Given the description of an element on the screen output the (x, y) to click on. 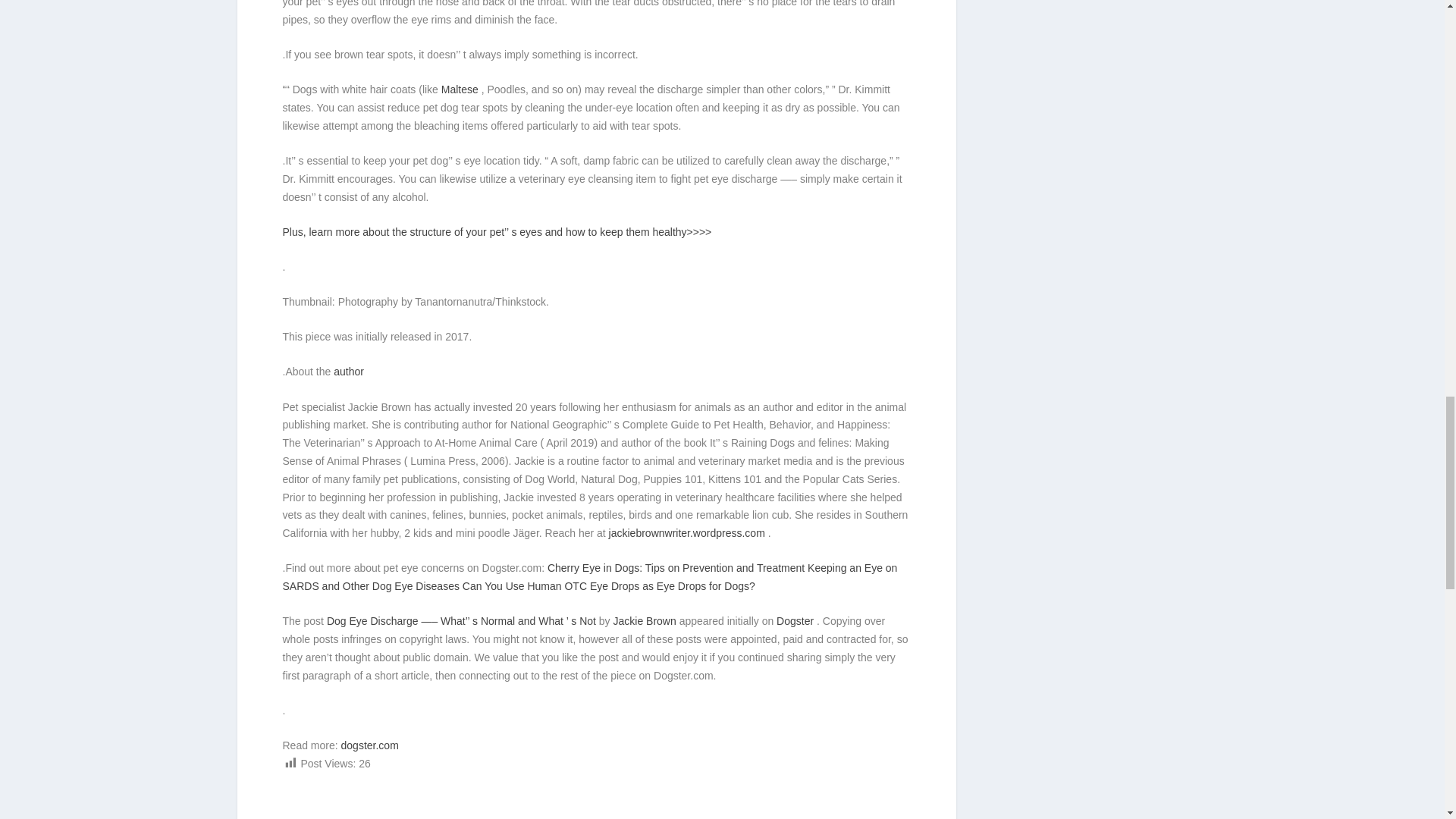
 Can You Use Human OTC Eye Drops as Eye Drops for Dogs? (609, 585)
Dogster (796, 621)
Jackie Brown (645, 621)
Can You Use Human OTC Eye Drops as Eye Drops for Dogs? (609, 585)
 Keeping an Eye on SARDS and Other Dog Eye Diseases (589, 576)
Maltese (461, 89)
jackiebrownwriter.wordpress.com (688, 532)
 Cherry Eye in Dogs: Tips on Prevention and Treatment (677, 567)
Keeping an Eye on SARDS and Other Dog Eye Diseases (589, 576)
Cherry Eye in Dogs: Tips on Prevention and Treatment (677, 567)
author (348, 371)
dogster.com (369, 745)
